Given the description of an element on the screen output the (x, y) to click on. 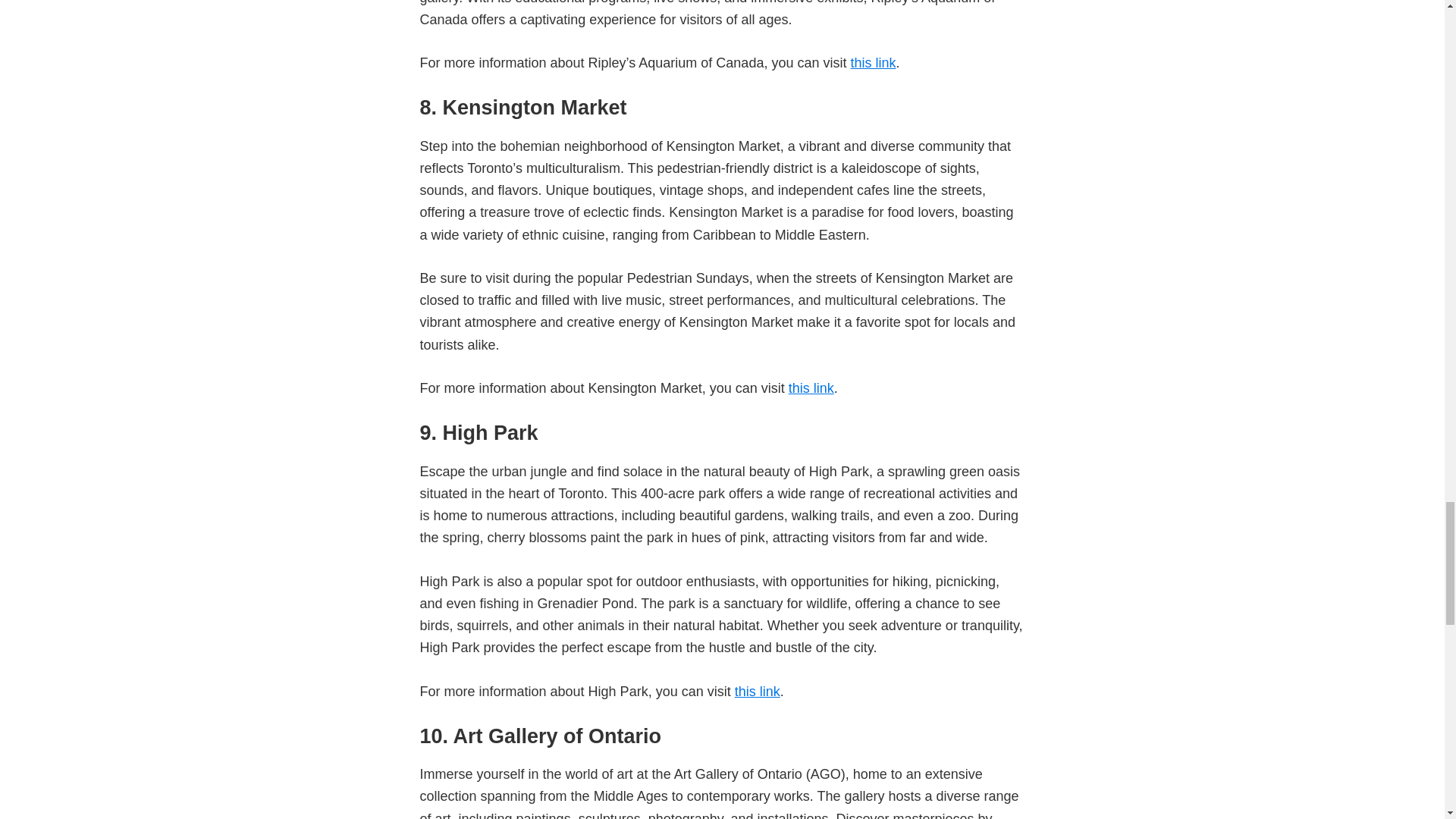
this link (811, 387)
this link (757, 691)
this link (872, 62)
